Given the description of an element on the screen output the (x, y) to click on. 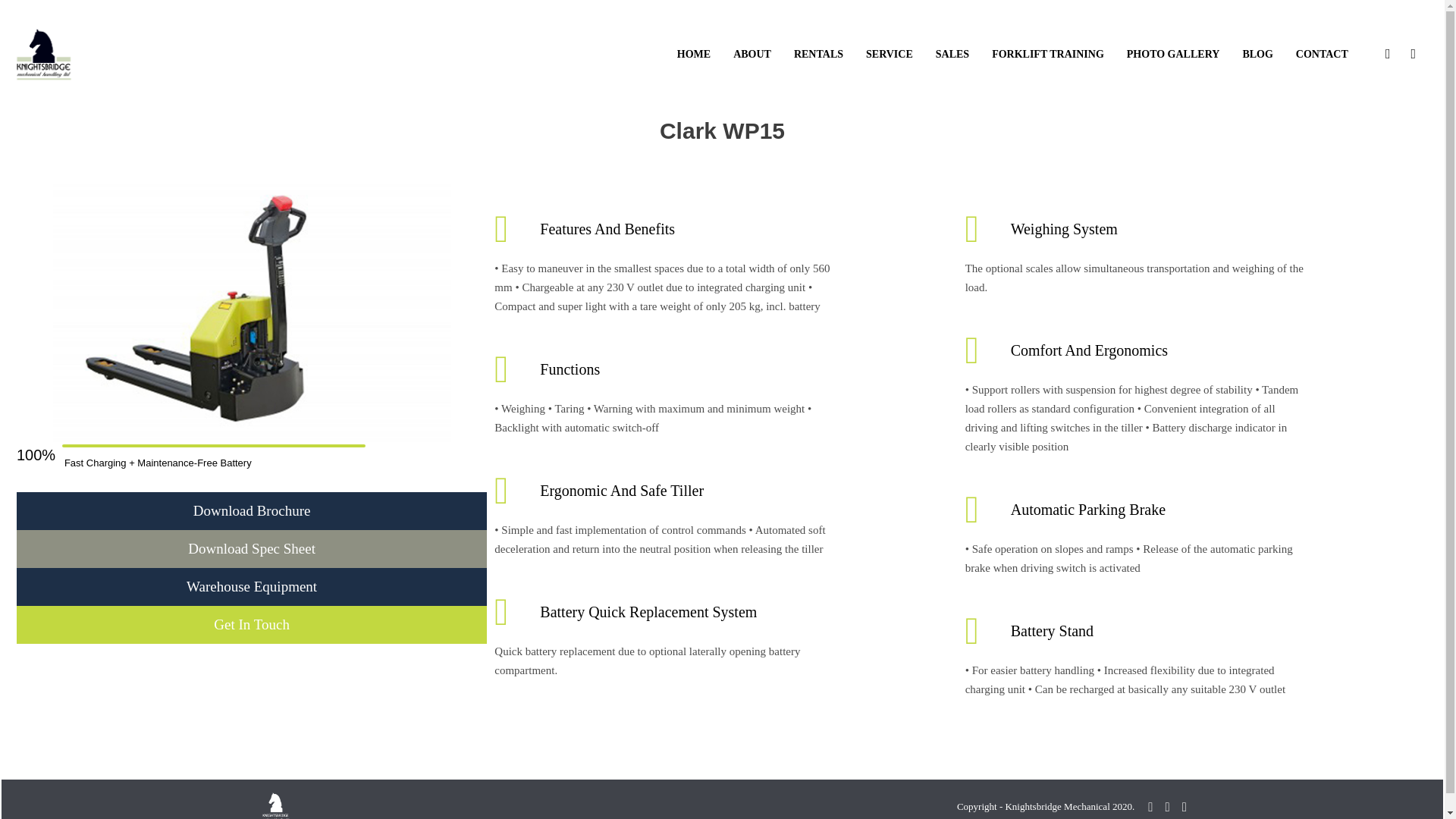
SALES (951, 53)
RENTALS (818, 53)
PHOTO GALLERY (1173, 53)
CONTACT (1322, 53)
FORKLIFT TRAINING (1048, 53)
HOME (693, 53)
SERVICE (889, 53)
ABOUT (751, 53)
BLOG (1257, 53)
